Given the description of an element on the screen output the (x, y) to click on. 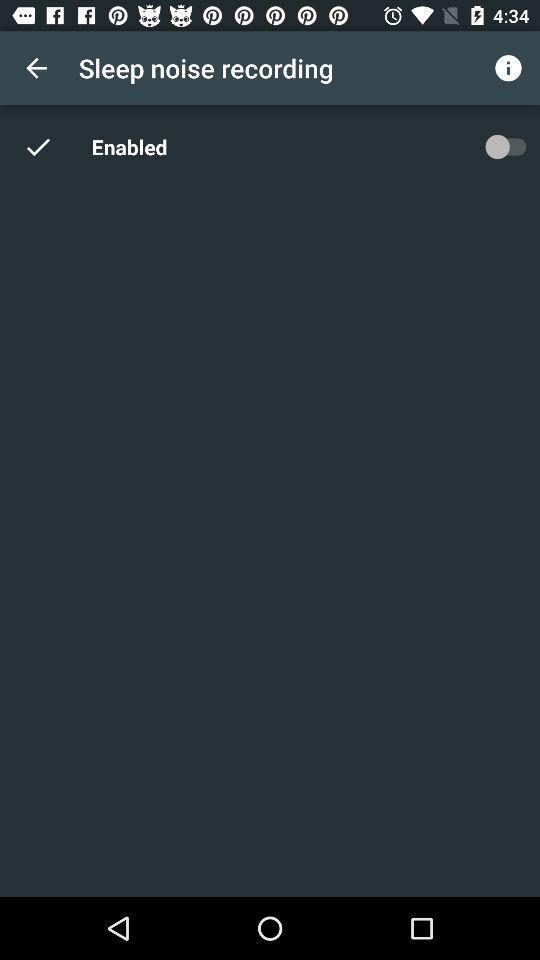
choose the item to the left of enabled item (49, 146)
